Given the description of an element on the screen output the (x, y) to click on. 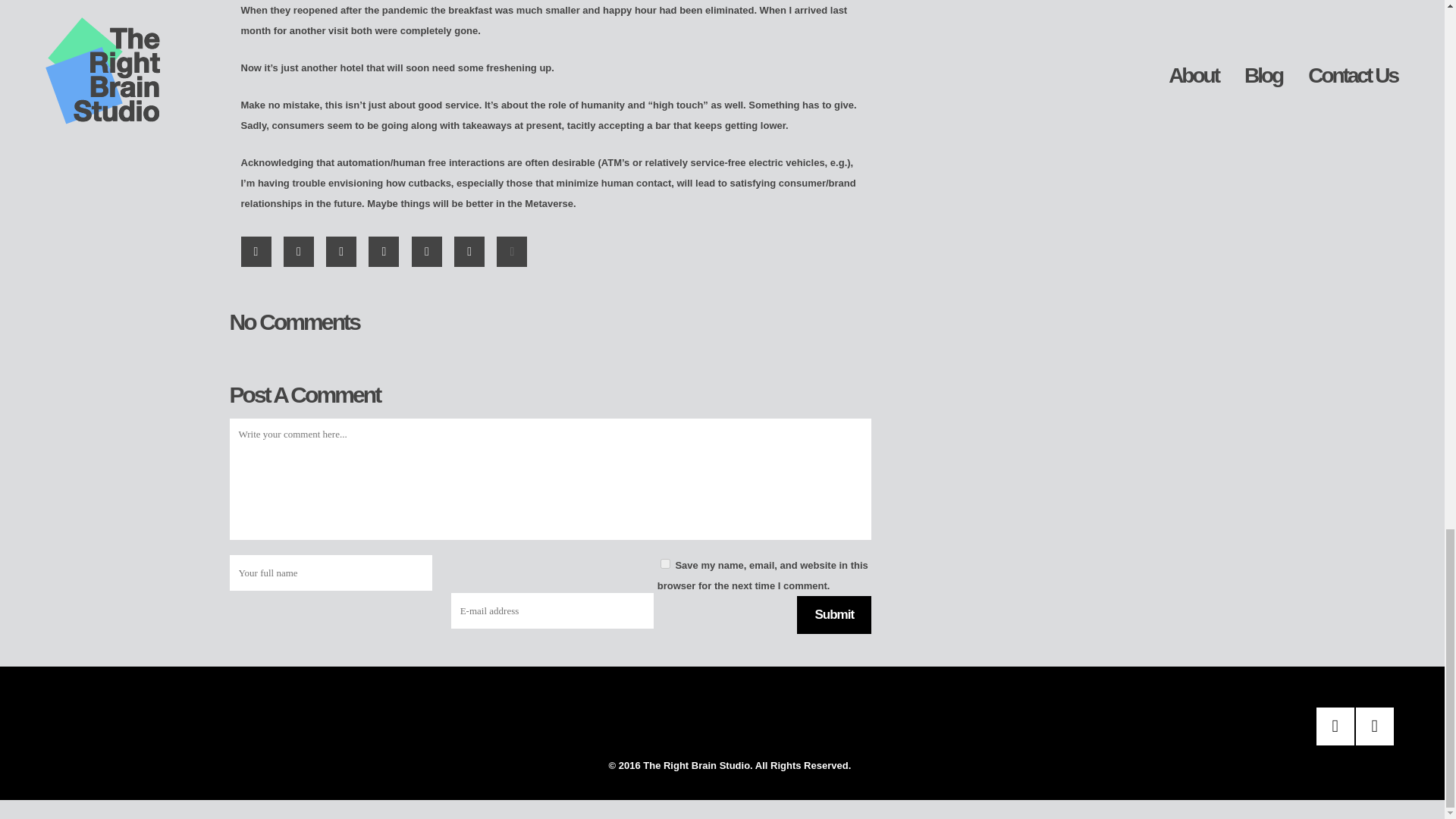
Submit (833, 614)
yes (665, 563)
Submit (833, 614)
